Given the description of an element on the screen output the (x, y) to click on. 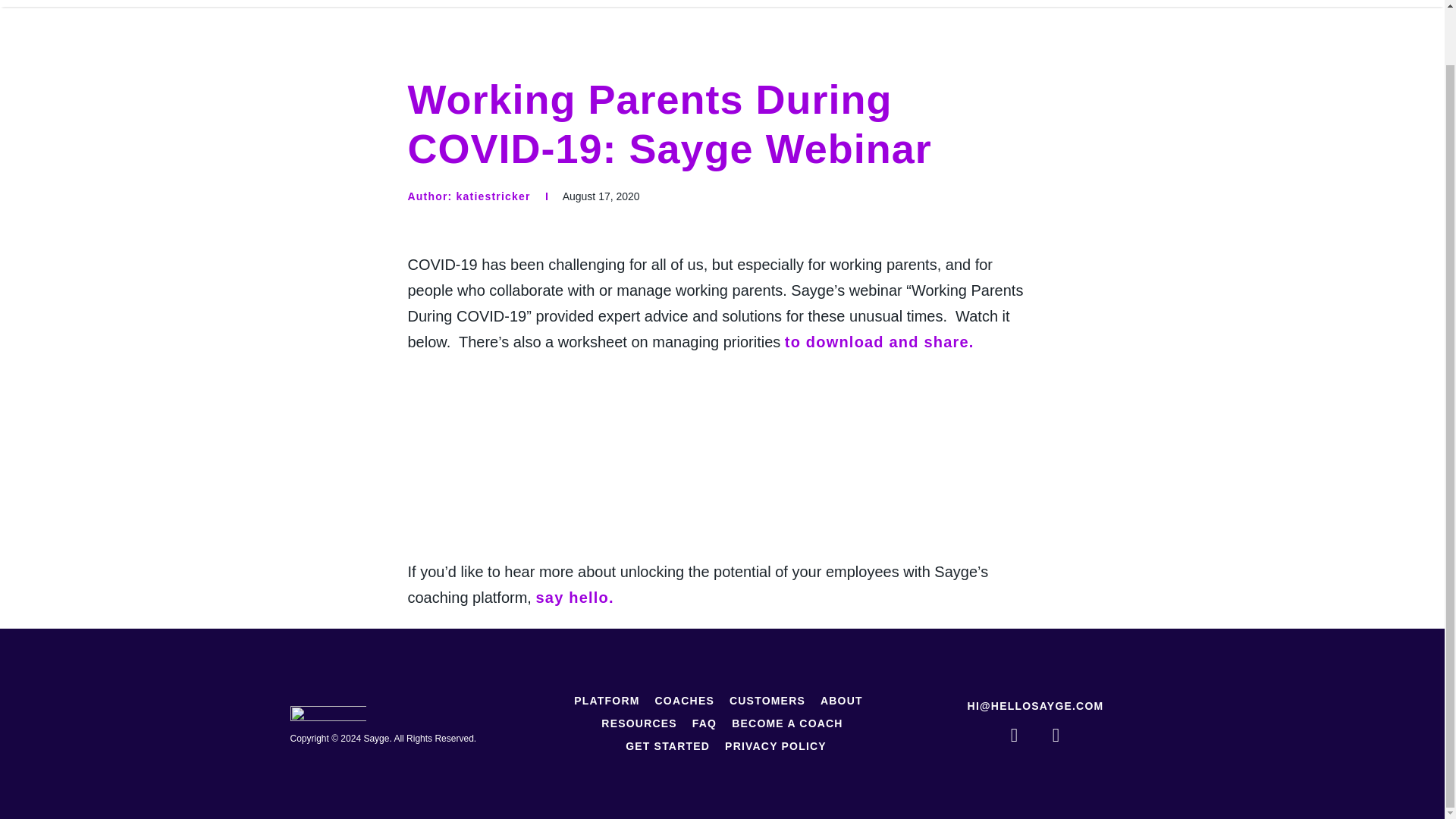
CUSTOMERS (767, 700)
RESOURCES (639, 722)
COACHES (684, 700)
Author: katiestricker (469, 195)
PLATFORM (606, 700)
say hello. (573, 597)
Working Parents During COVID-19 (721, 456)
to download and share. (879, 341)
FAQ (704, 722)
ABOUT (842, 700)
